Given the description of an element on the screen output the (x, y) to click on. 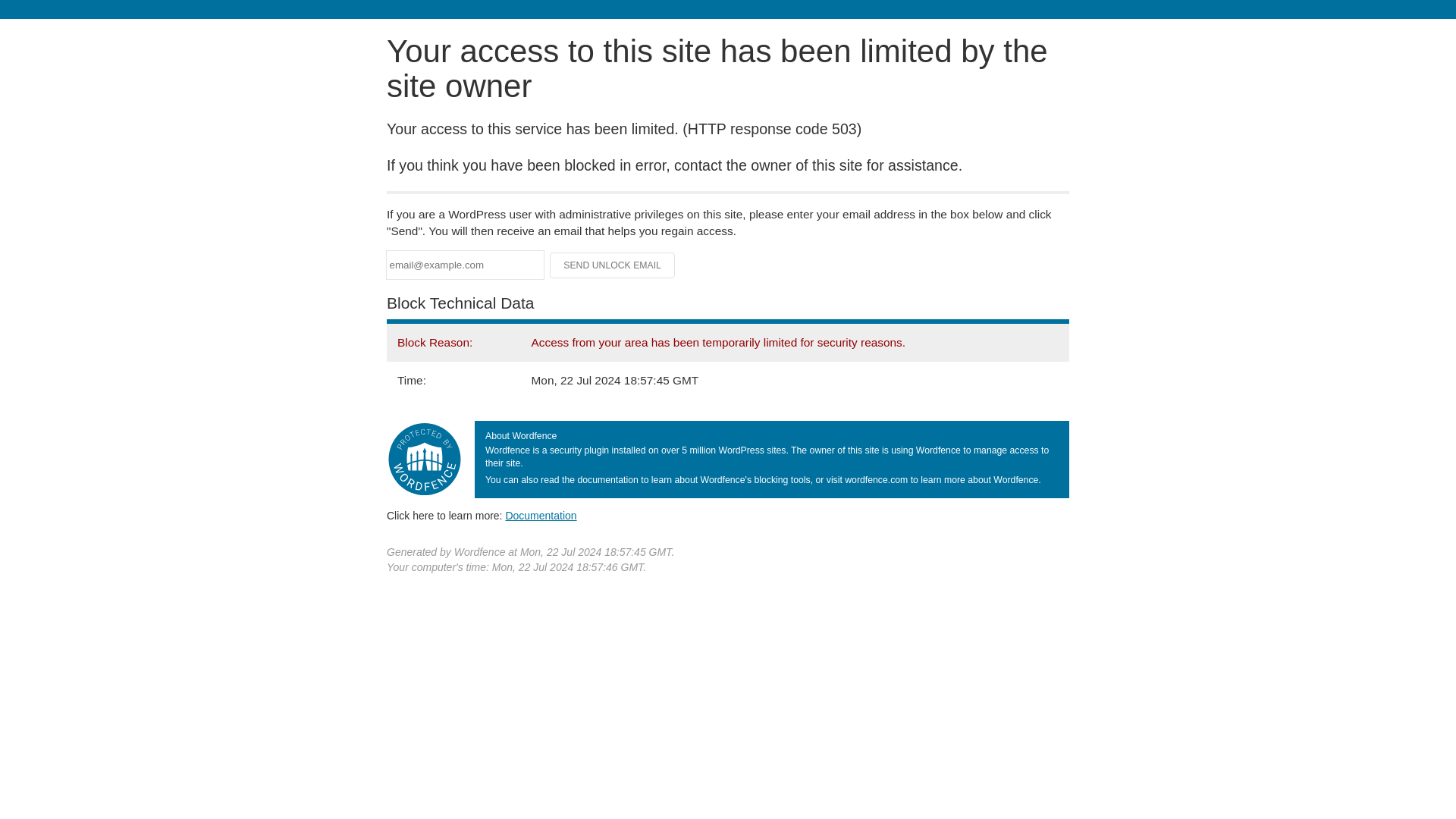
Documentation (540, 515)
Send Unlock Email (612, 265)
Send Unlock Email (612, 265)
